Given the description of an element on the screen output the (x, y) to click on. 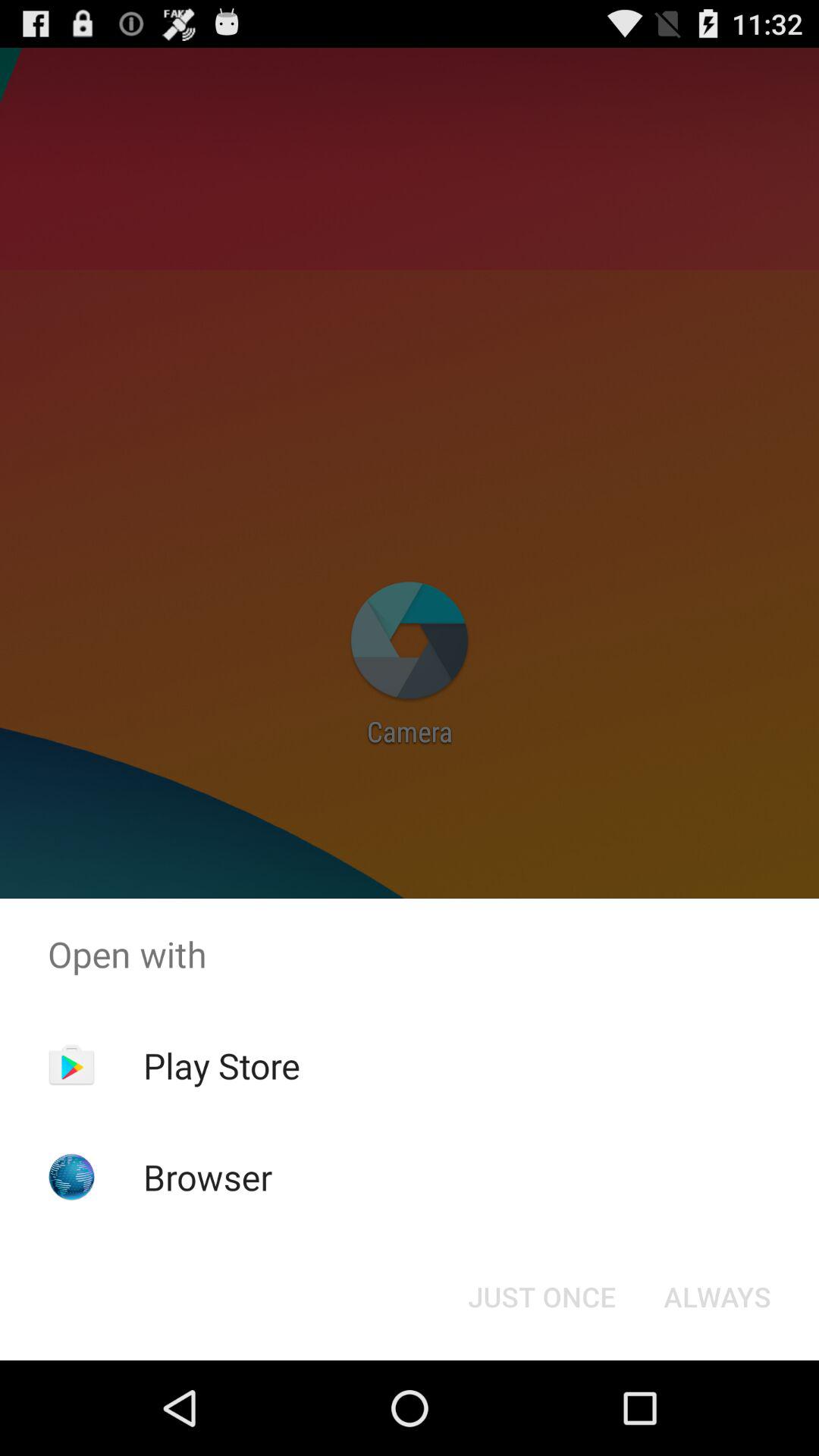
flip until just once button (541, 1296)
